Given the description of an element on the screen output the (x, y) to click on. 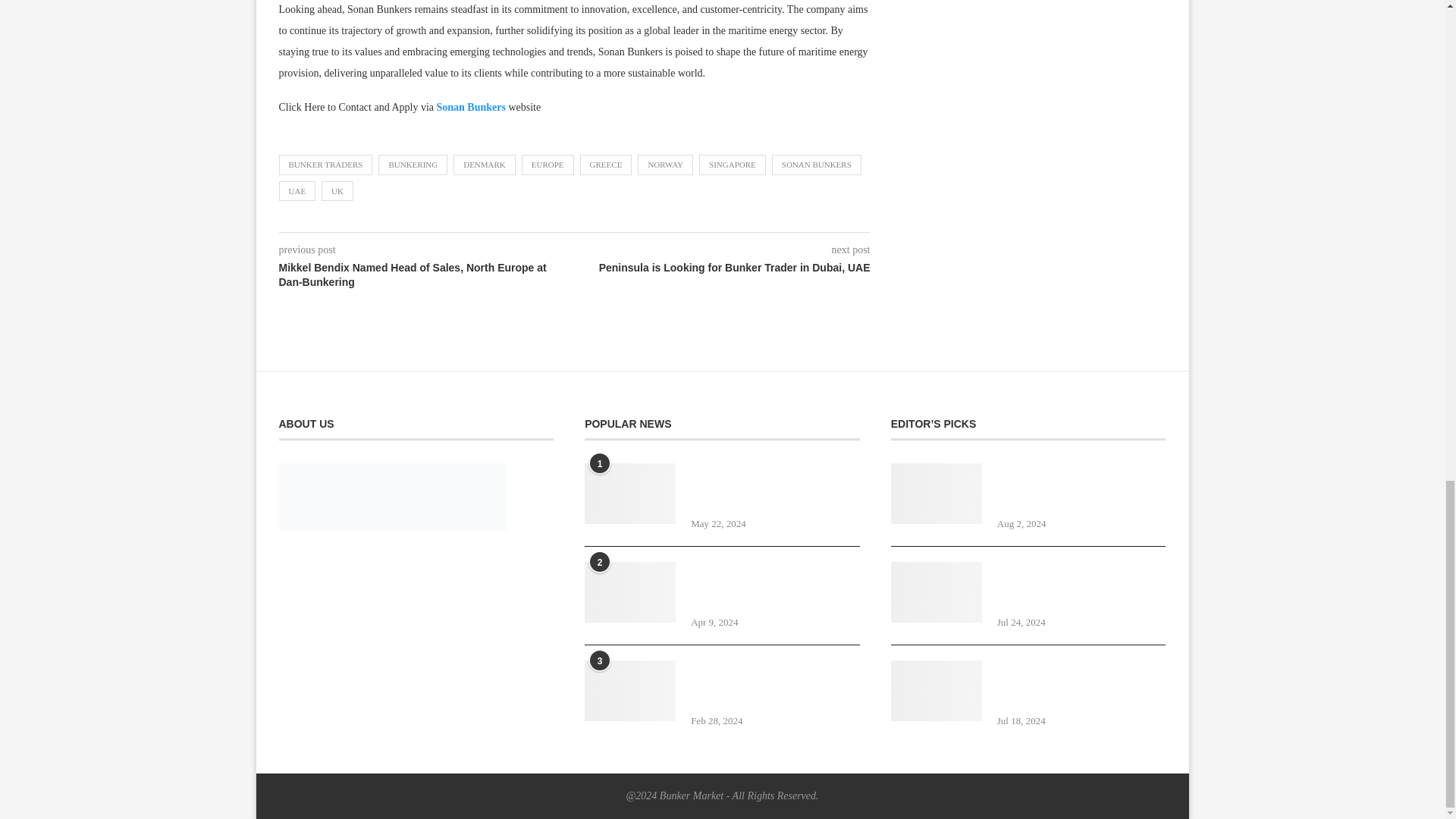
GREECE (605, 164)
NORWAY (665, 164)
DENMARK (483, 164)
UK (337, 190)
SONAN BUNKERS (816, 164)
BUNKER TRADERS (325, 164)
Sonan Bunkers (470, 107)
BUNKERING (412, 164)
UAE (297, 190)
